Given the description of an element on the screen output the (x, y) to click on. 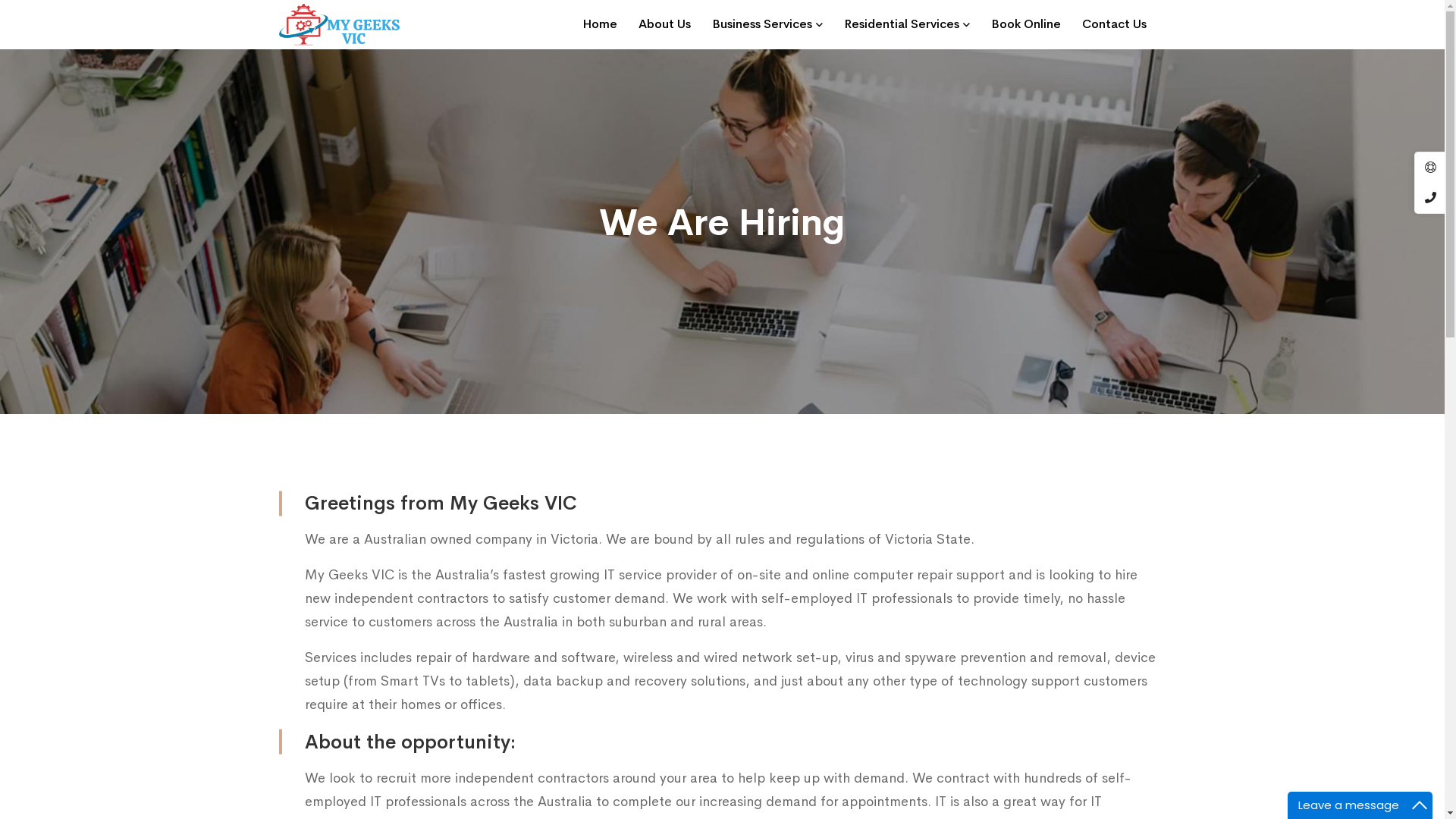
Home Element type: text (599, 24)
Residential Services Element type: text (905, 24)
Book Online Element type: text (1024, 24)
About Us Element type: text (664, 24)
Contact Us Element type: text (1113, 24)
Maximize Element type: hover (1419, 805)
Business Services Element type: text (766, 24)
